Given the description of an element on the screen output the (x, y) to click on. 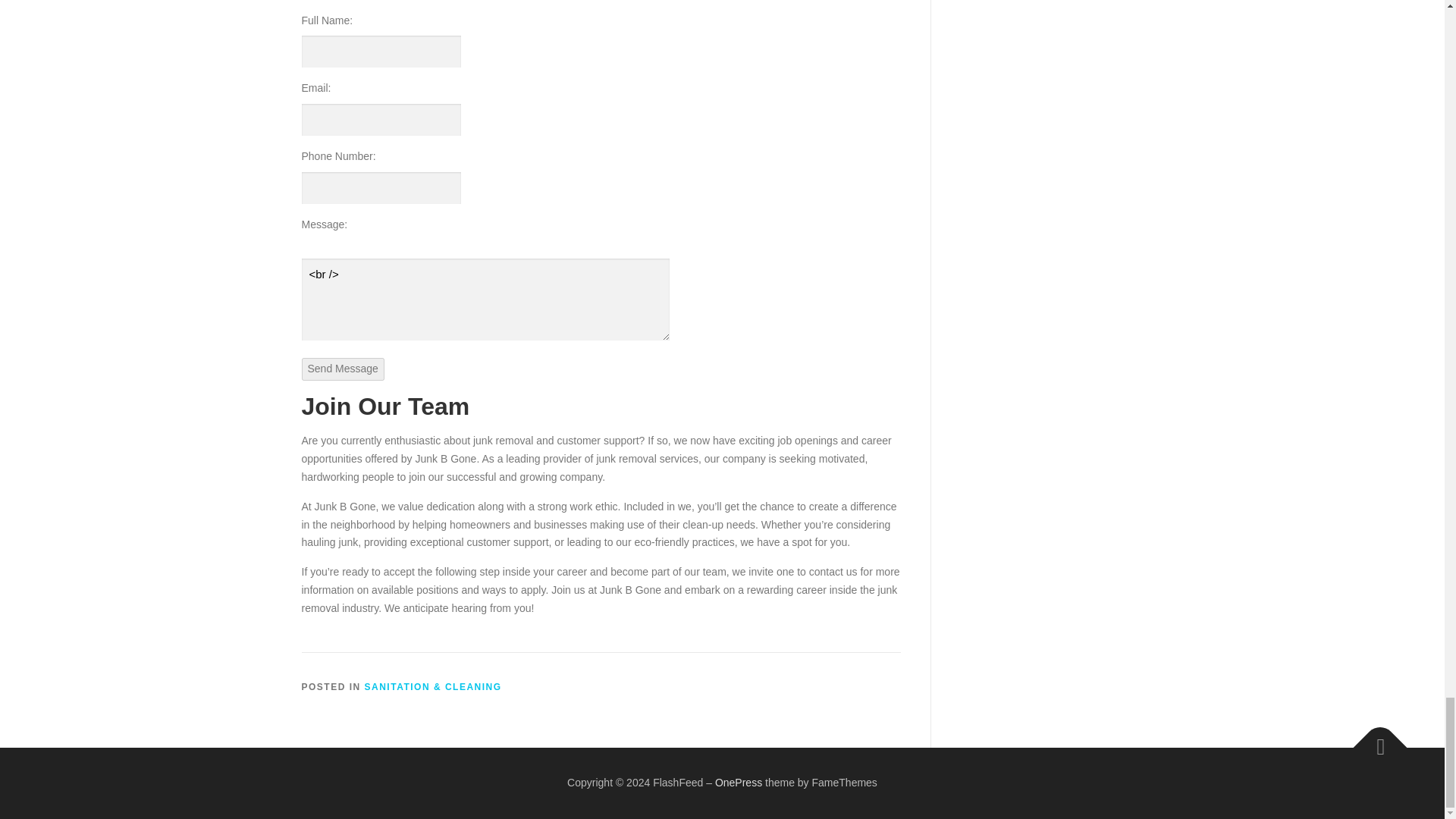
Back To Top (1372, 740)
Send Message (342, 368)
